Given the description of an element on the screen output the (x, y) to click on. 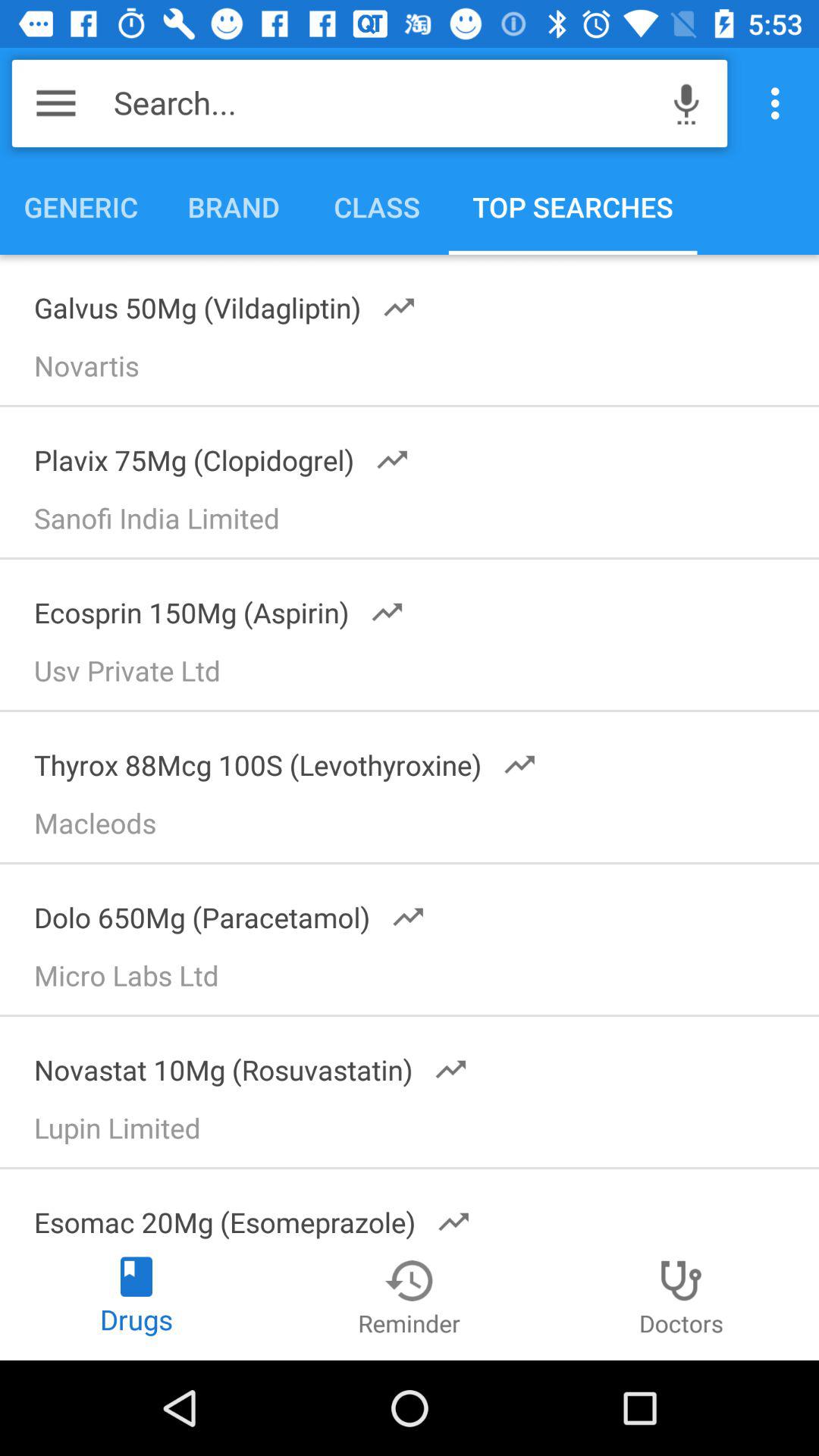
tap icon next to the search... (686, 103)
